Given the description of an element on the screen output the (x, y) to click on. 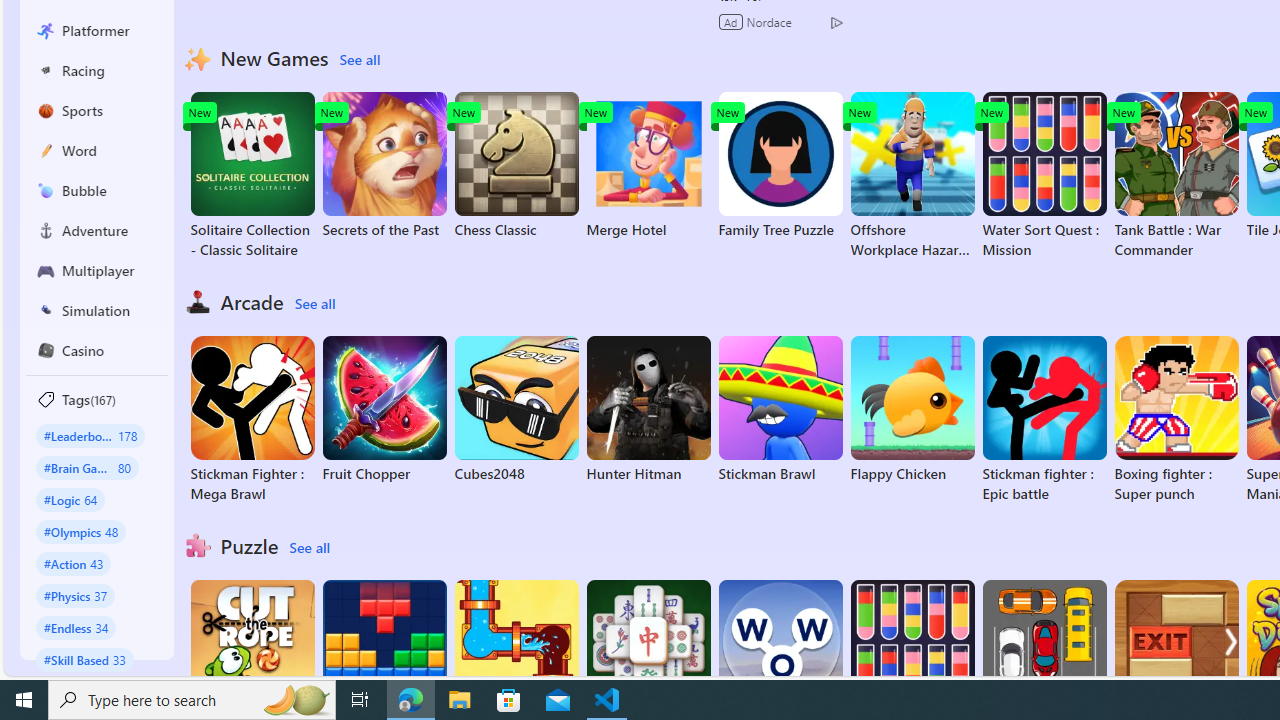
Stickman Fighter : Mega Brawl (251, 419)
Secrets of the Past (384, 165)
#Leaderboard 178 (90, 435)
Stickman Brawl (780, 409)
#Olympics 48 (80, 531)
Tank Battle : War Commander (1176, 175)
#Skill Based 33 (84, 659)
Chess Classic (516, 165)
Offshore Workplace Hazard Game (912, 175)
Solitaire Collection - Classic Solitaire (251, 175)
Cubes2048 (516, 409)
Fruit Chopper (384, 409)
#Physics 37 (75, 595)
Merge Hotel (648, 165)
